Given the description of an element on the screen output the (x, y) to click on. 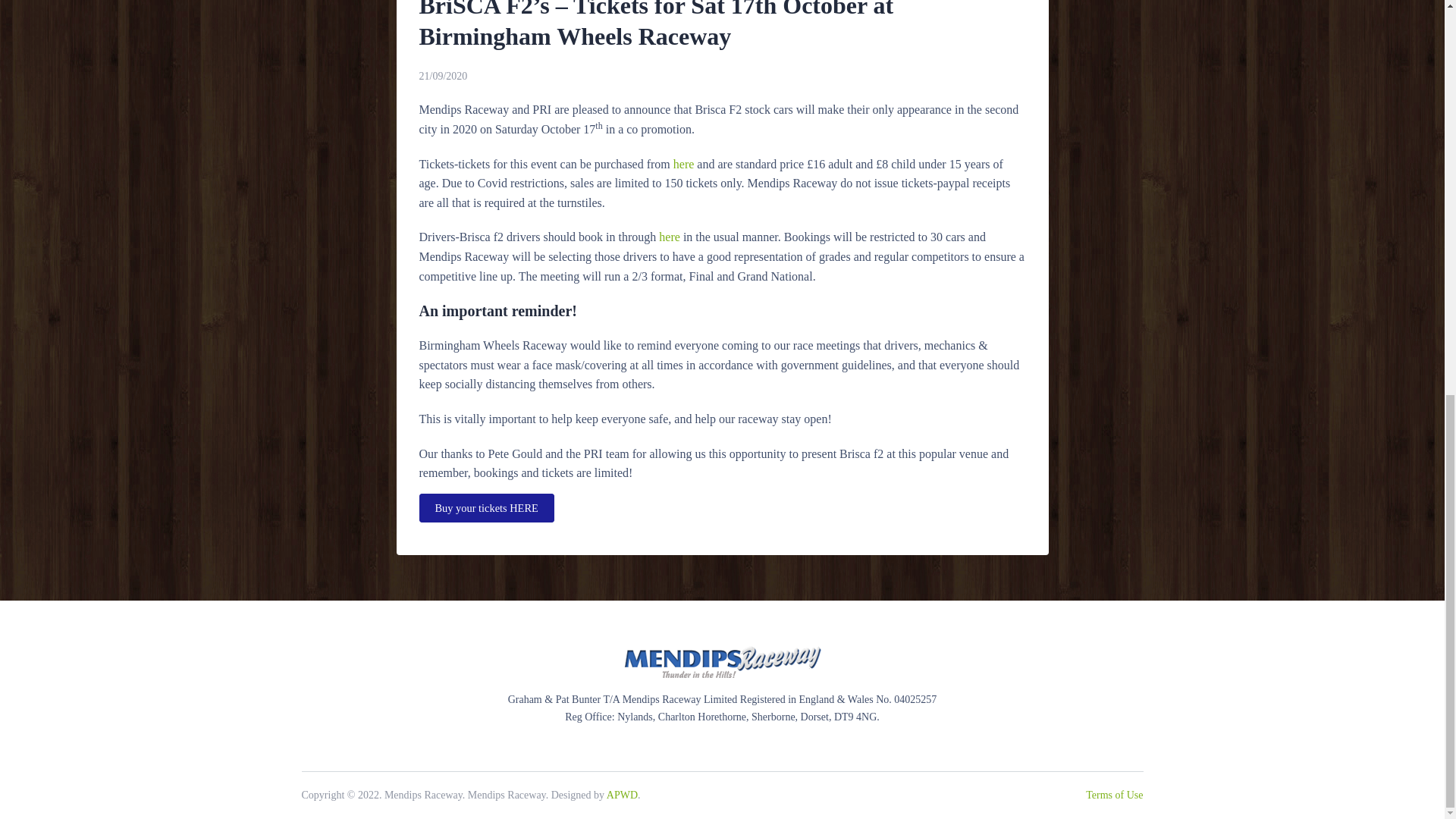
Buy your tickets HERE (486, 507)
here (669, 236)
here (683, 164)
APWD (622, 794)
